Given the description of an element on the screen output the (x, y) to click on. 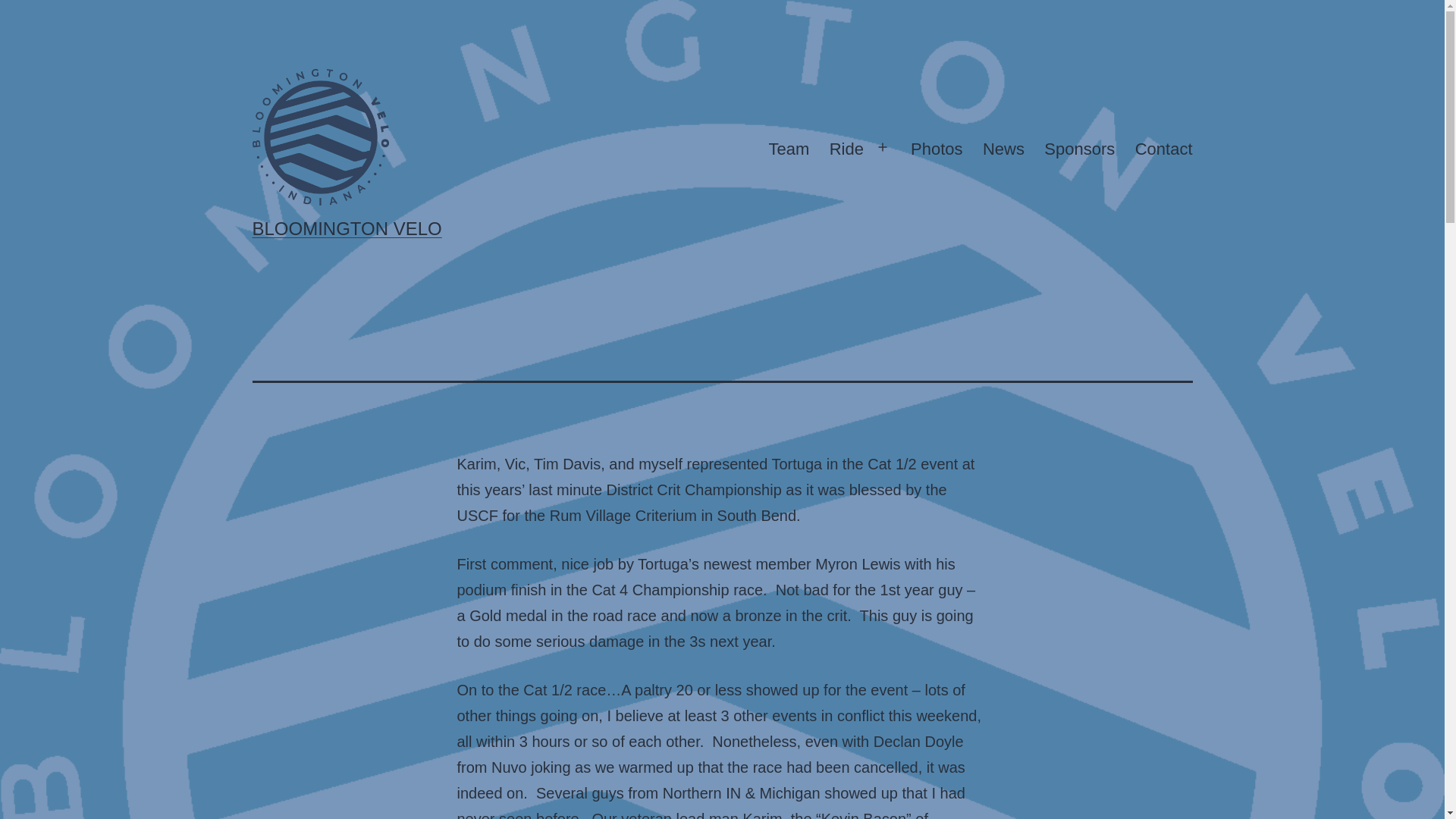
Sponsors (1078, 149)
Photos (936, 149)
Ride (845, 149)
Contact (1163, 149)
News (1002, 149)
Team (788, 149)
BLOOMINGTON VELO (346, 228)
